Given the description of an element on the screen output the (x, y) to click on. 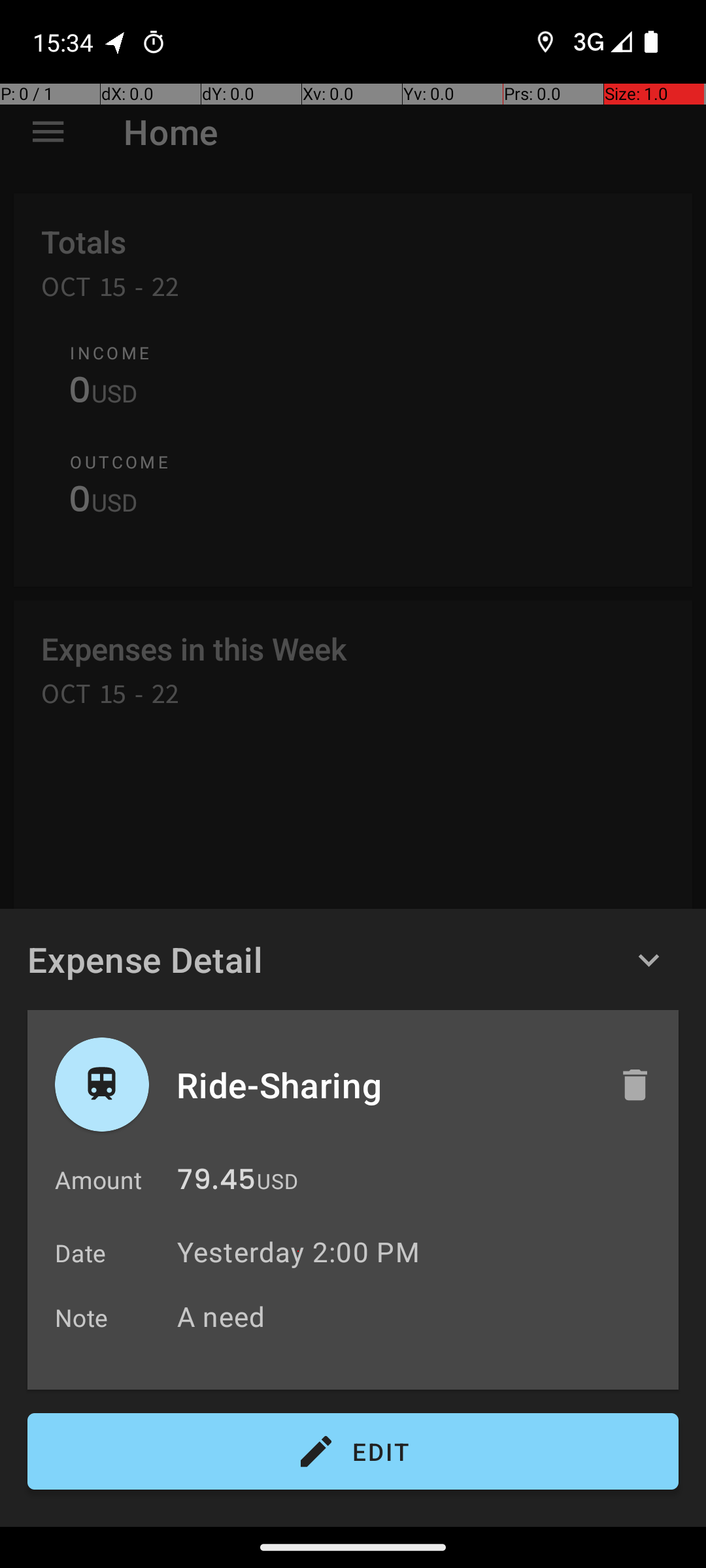
79.45 Element type: android.widget.TextView (216, 1182)
Yesterday 2:00 PM Element type: android.widget.TextView (298, 1251)
